Given the description of an element on the screen output the (x, y) to click on. 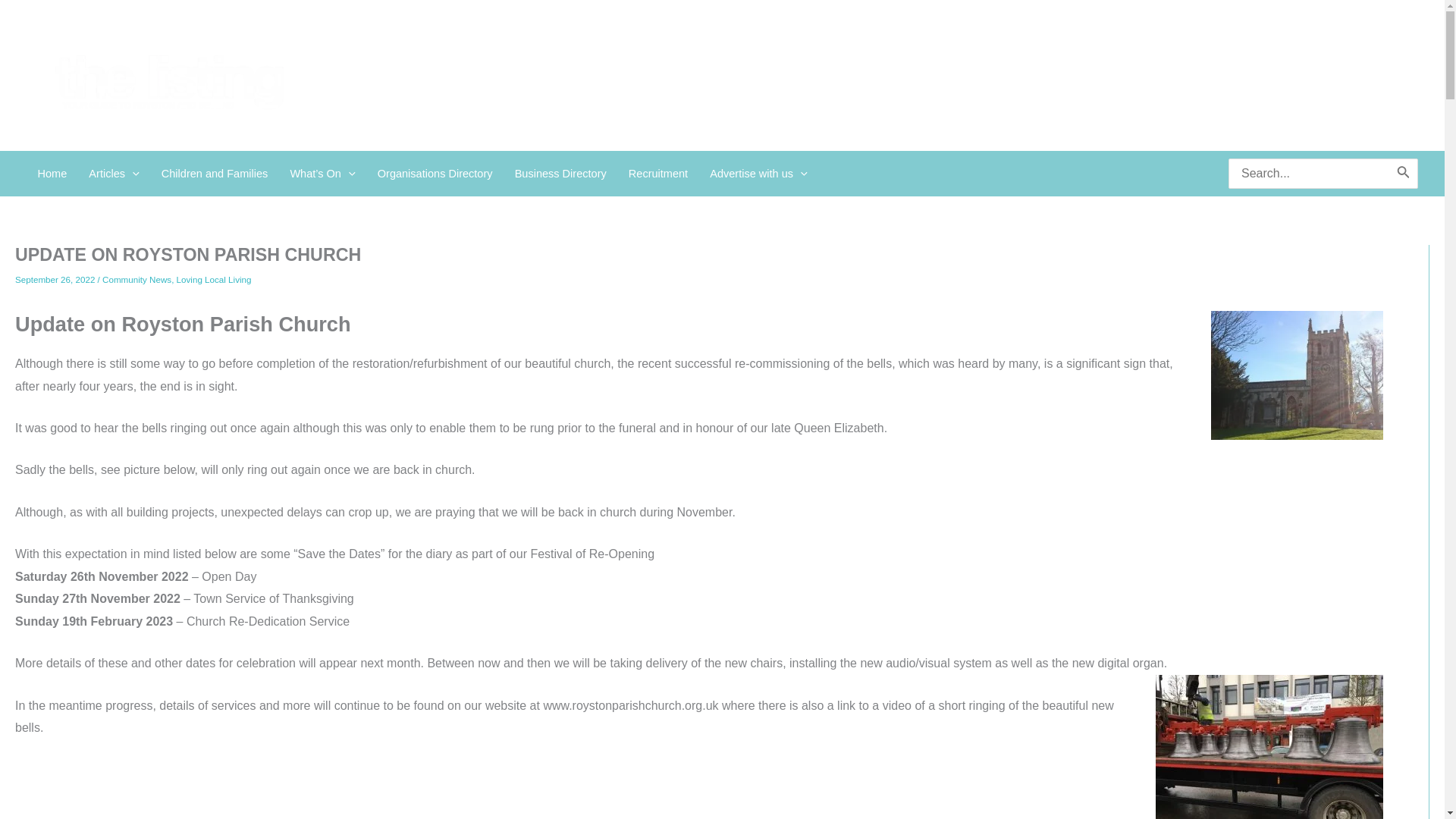
Children and Families (214, 173)
Articles (113, 173)
01763 248447 (721, 75)
Home (52, 173)
